Given the description of an element on the screen output the (x, y) to click on. 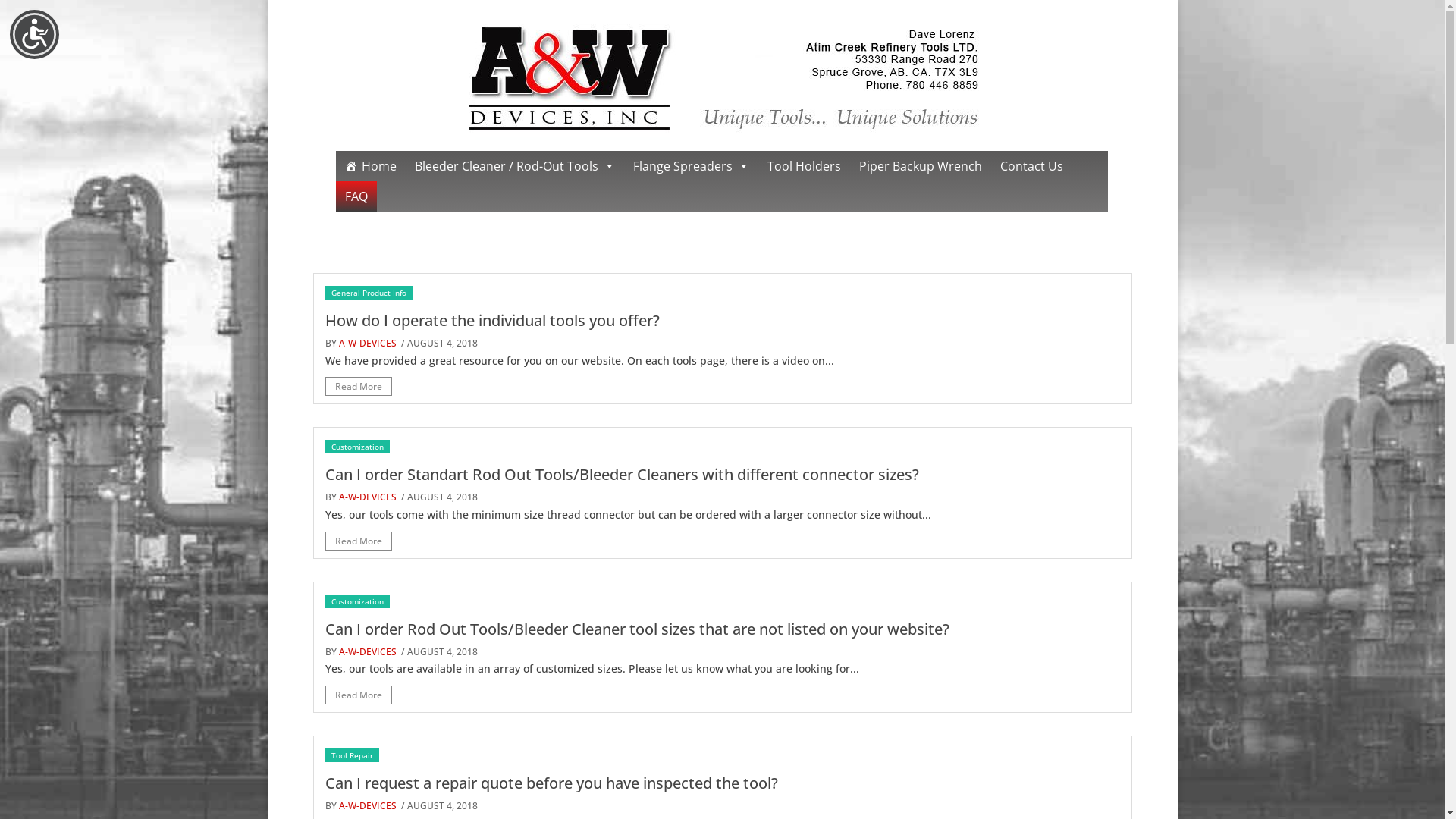
Flange Spreaders Element type: text (690, 165)
A-W-DEVICES Element type: text (366, 496)
A-W-DEVICES Element type: text (366, 805)
Read More Element type: text (357, 385)
Customization Element type: text (356, 601)
Tool Repair Element type: text (351, 755)
Piper Backup Wrench Element type: text (919, 165)
A-W-DEVICES Element type: text (366, 651)
A-W-DEVICES Element type: text (366, 342)
How do I operate the individual tools you offer? Element type: text (491, 320)
Read More Element type: text (357, 694)
Customization Element type: text (356, 446)
Tool Holders Element type: text (804, 165)
General Product Info Element type: text (367, 292)
Contact Us Element type: text (1030, 165)
Home Element type: text (369, 165)
Read More Element type: text (357, 540)
FAQ Element type: text (355, 196)
Bleeder Cleaner / Rod-Out Tools Element type: text (513, 165)
